Given the description of an element on the screen output the (x, y) to click on. 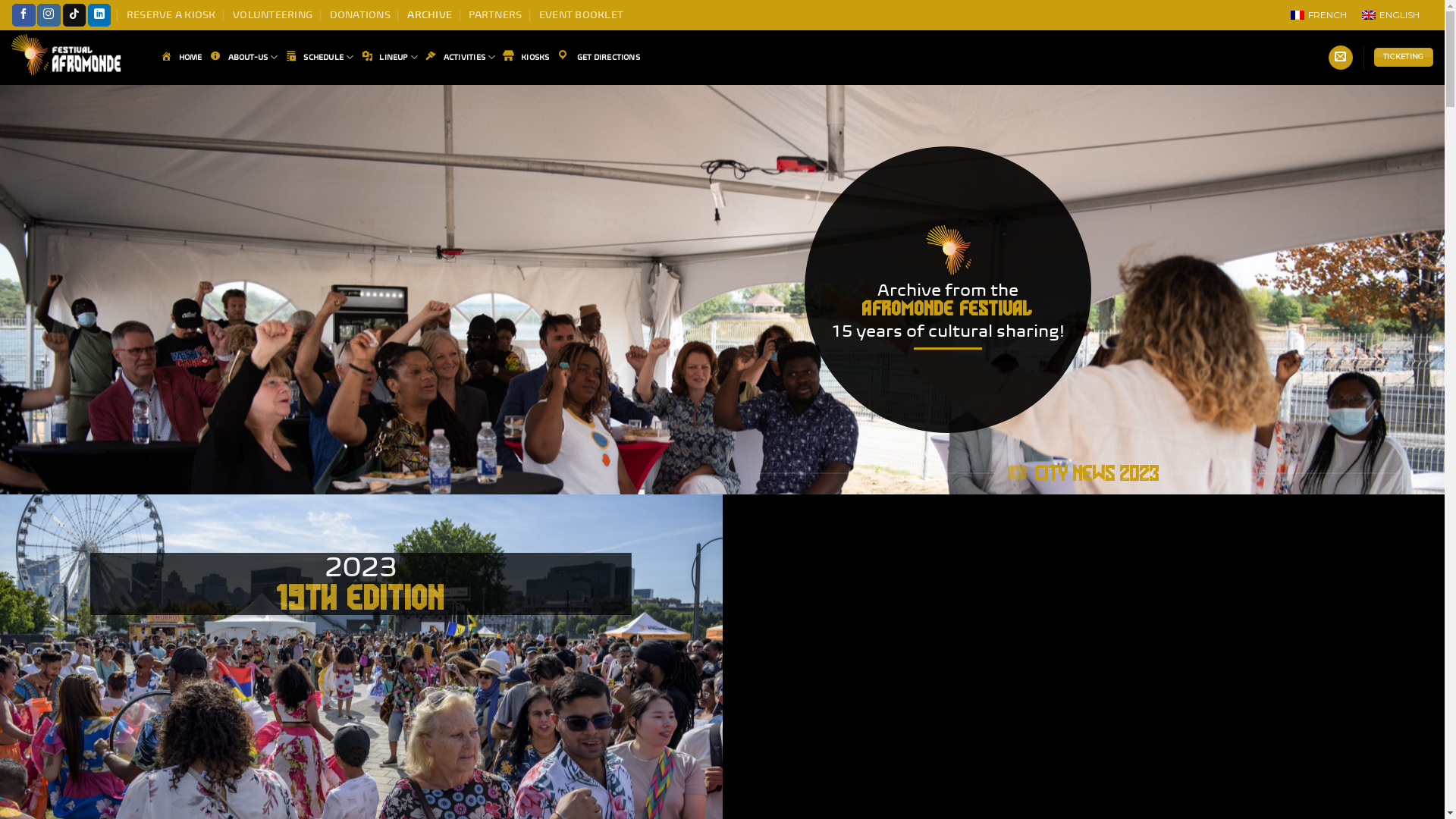
Follow on Instagram Element type: hover (48, 14)
SCHEDULE Element type: text (319, 57)
EVENT BOOKLET Element type: text (581, 14)
GET DIRECTIONS Element type: text (597, 57)
PARTNERS Element type: text (494, 14)
TICKETING Element type: text (1403, 56)
ENGLISH Element type: text (1390, 15)
KIOSKS Element type: text (525, 57)
Follow on LinkedIn Element type: hover (98, 14)
ABOUT-US Element type: text (244, 57)
VOLUNTEERING Element type: text (272, 14)
Follow on Facebook Element type: hover (23, 14)
FRENCH Element type: text (1318, 15)
DONATIONS Element type: text (359, 14)
ACTIVITIES Element type: text (460, 57)
LINEUP Element type: text (389, 57)
RESERVE A KIOSK Element type: text (171, 14)
Sign up for Newsletter Element type: hover (1340, 57)
HOME Element type: text (181, 57)
ARCHIVE Element type: text (429, 14)
Follow on TikTok Element type: hover (73, 14)
